Given the description of an element on the screen output the (x, y) to click on. 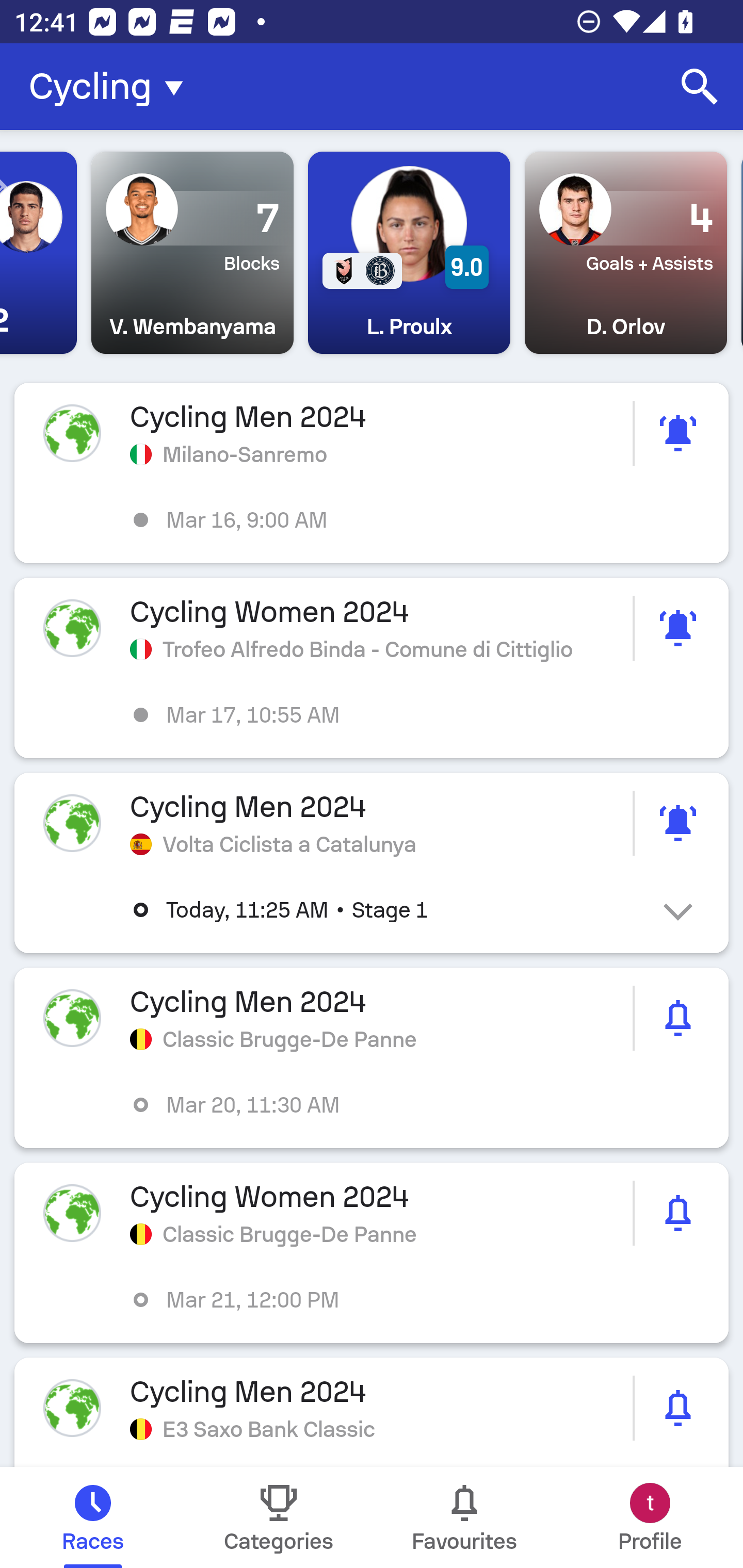
Cycling (111, 86)
Search (699, 86)
0 - 2 (38, 253)
9.0 L. Proulx (409, 253)
Today, 11:25 AM • Stage 1 (385, 910)
Cycling Men 2024 E3 Saxo Bank Classic picture (371, 1412)
Categories (278, 1517)
Favourites (464, 1517)
Profile (650, 1517)
